Given the description of an element on the screen output the (x, y) to click on. 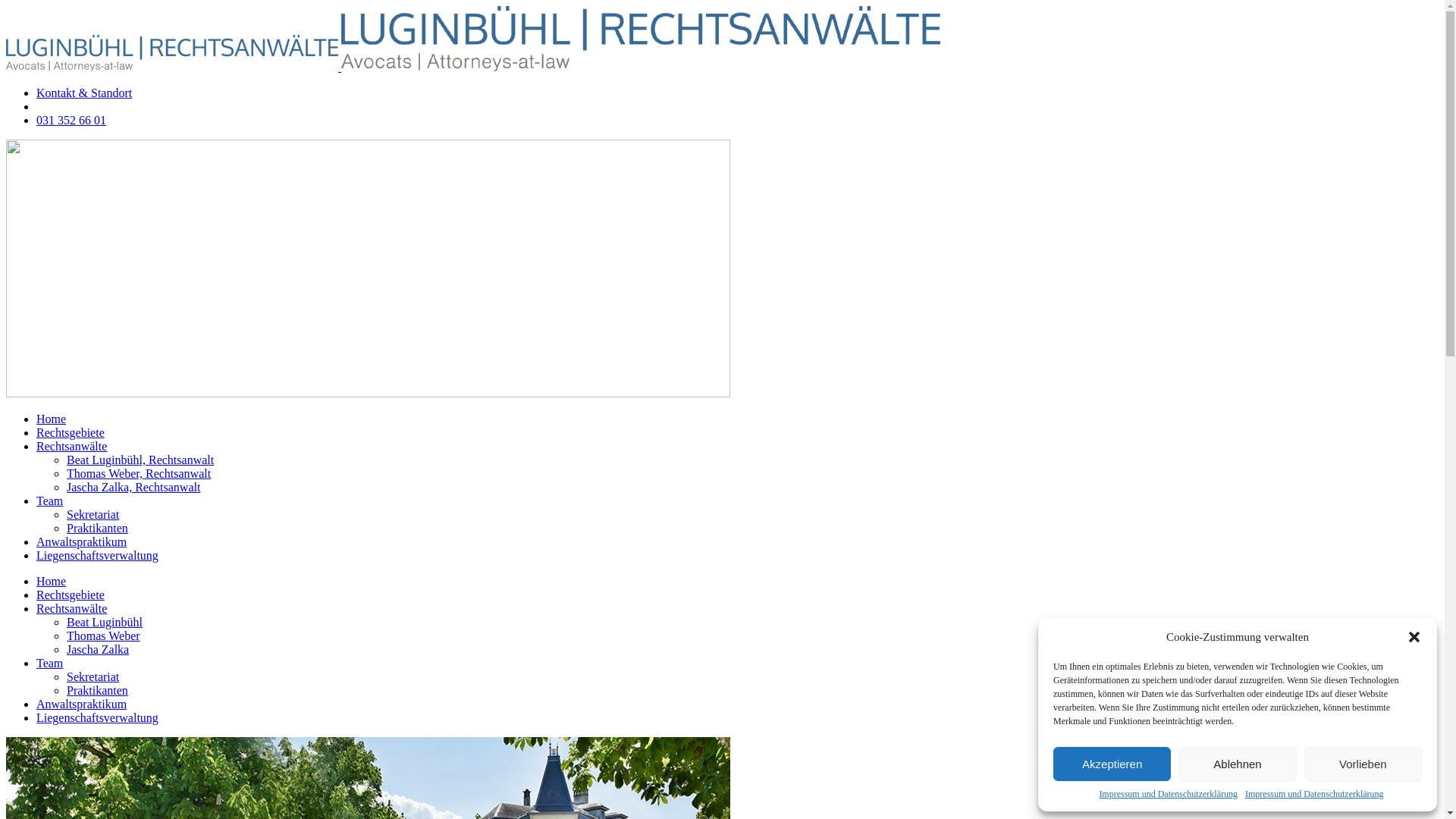
Sekretariat Element type: text (92, 514)
Praktikanten Element type: text (97, 690)
Ablehnen Element type: text (1236, 763)
Vorlieben Element type: text (1362, 763)
Jascha Zalka, Rechtsanwalt Element type: text (133, 486)
Rechtsgebiete Element type: text (70, 432)
Thomas Weber Element type: text (103, 635)
Liegenschaftsverwaltung Element type: text (97, 555)
Rechtsgebiete Element type: text (70, 594)
031 352 66 01 Element type: text (71, 119)
Home Element type: text (50, 580)
Anwaltspraktikum Element type: text (81, 541)
Jascha Zalka Element type: text (97, 649)
Liegenschaftsverwaltung Element type: text (97, 717)
Anwaltspraktikum Element type: text (81, 703)
Team Element type: text (49, 662)
Praktikanten Element type: text (97, 527)
Akzeptieren Element type: text (1111, 763)
Kontakt & Standort Element type: text (83, 92)
Sekretariat Element type: text (92, 676)
Home Element type: text (50, 418)
Team Element type: text (49, 500)
Thomas Weber, Rechtsanwalt Element type: text (138, 473)
